Given the description of an element on the screen output the (x, y) to click on. 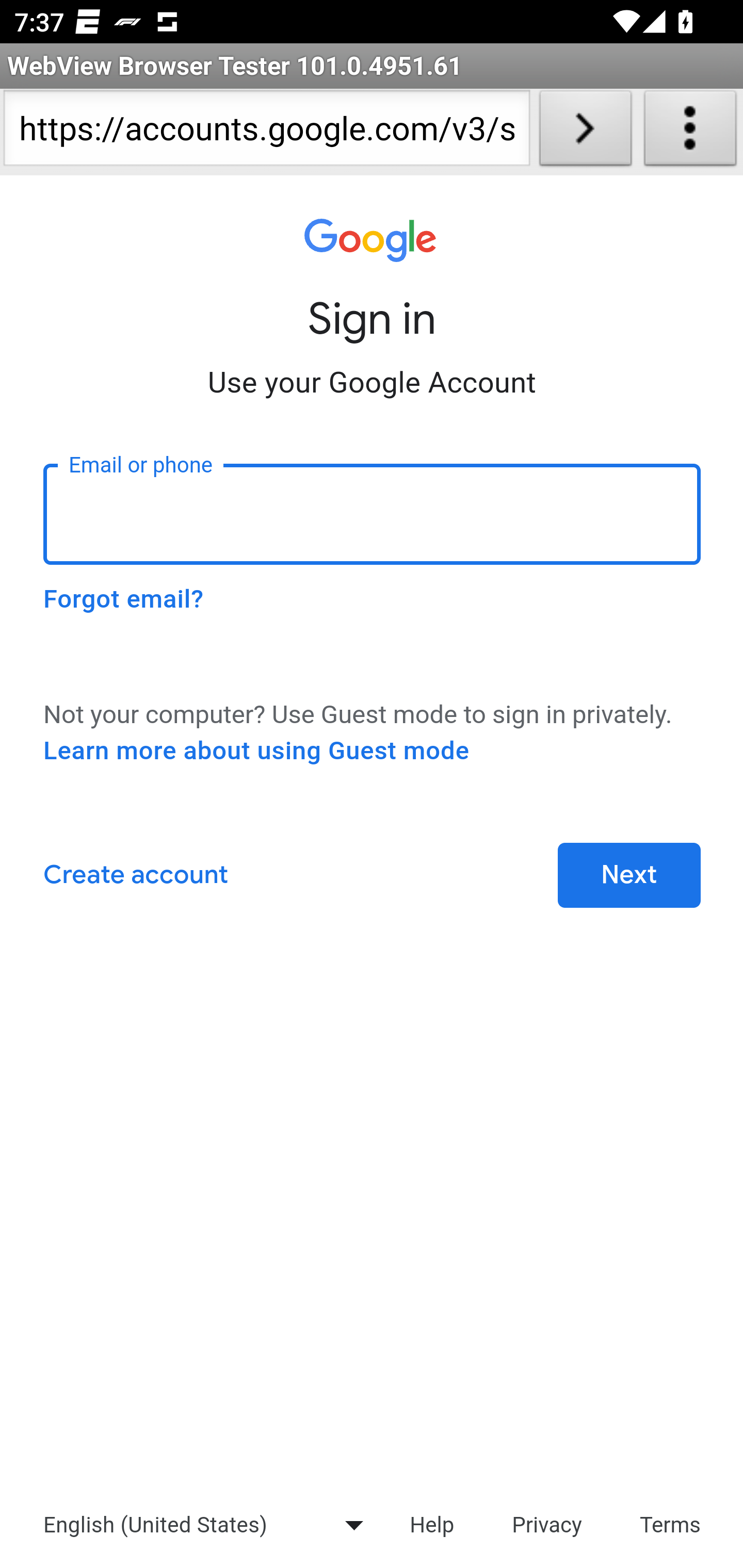
Load URL (585, 132)
About WebView (690, 132)
Forgot email? (123, 599)
Learn more about using Guest mode (256, 750)
Create account (134, 875)
Next (629, 875)
Help (430, 1524)
Privacy (547, 1524)
Terms (670, 1524)
